Given the description of an element on the screen output the (x, y) to click on. 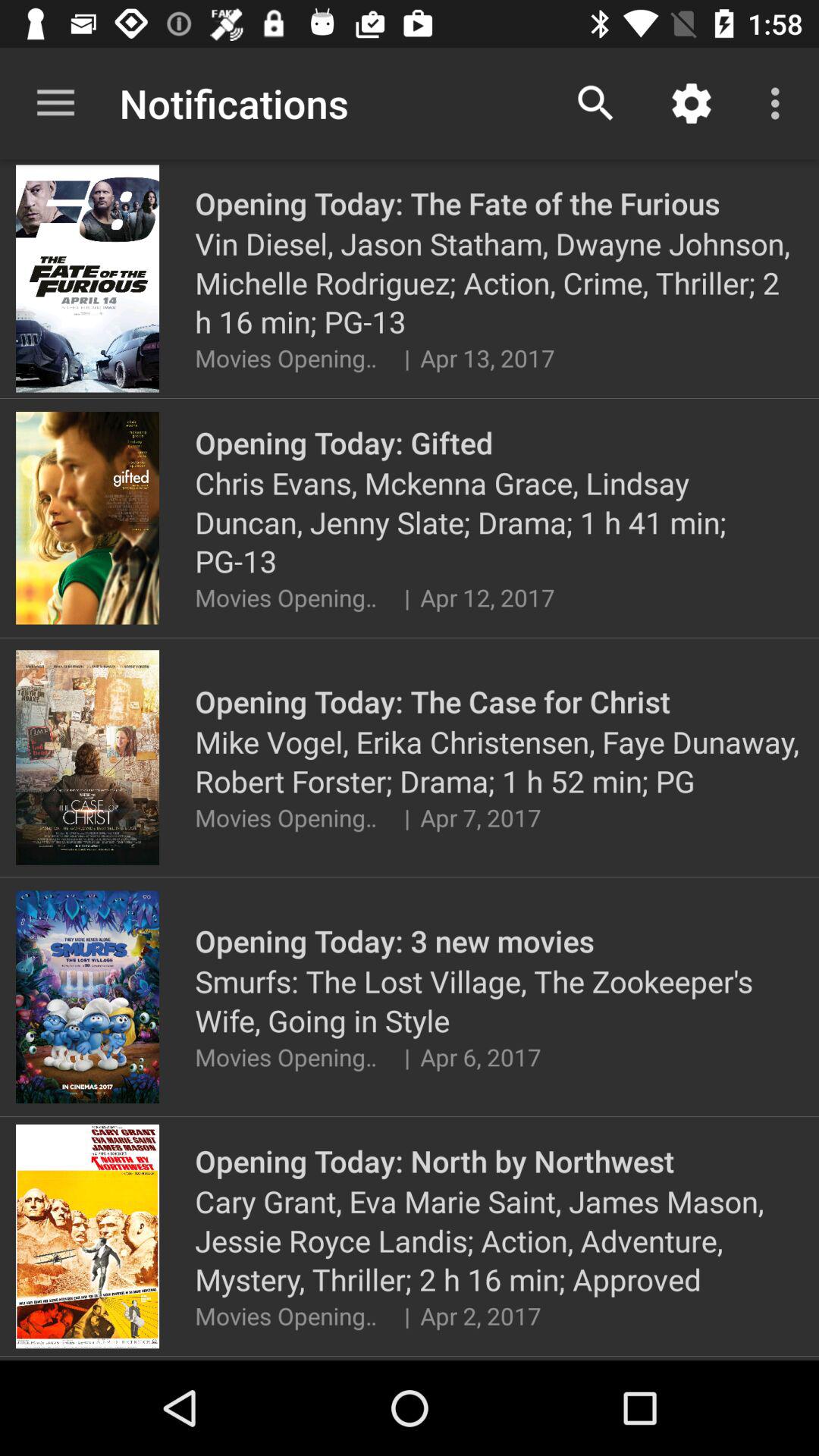
turn on the icon next to notifications item (595, 103)
